Given the description of an element on the screen output the (x, y) to click on. 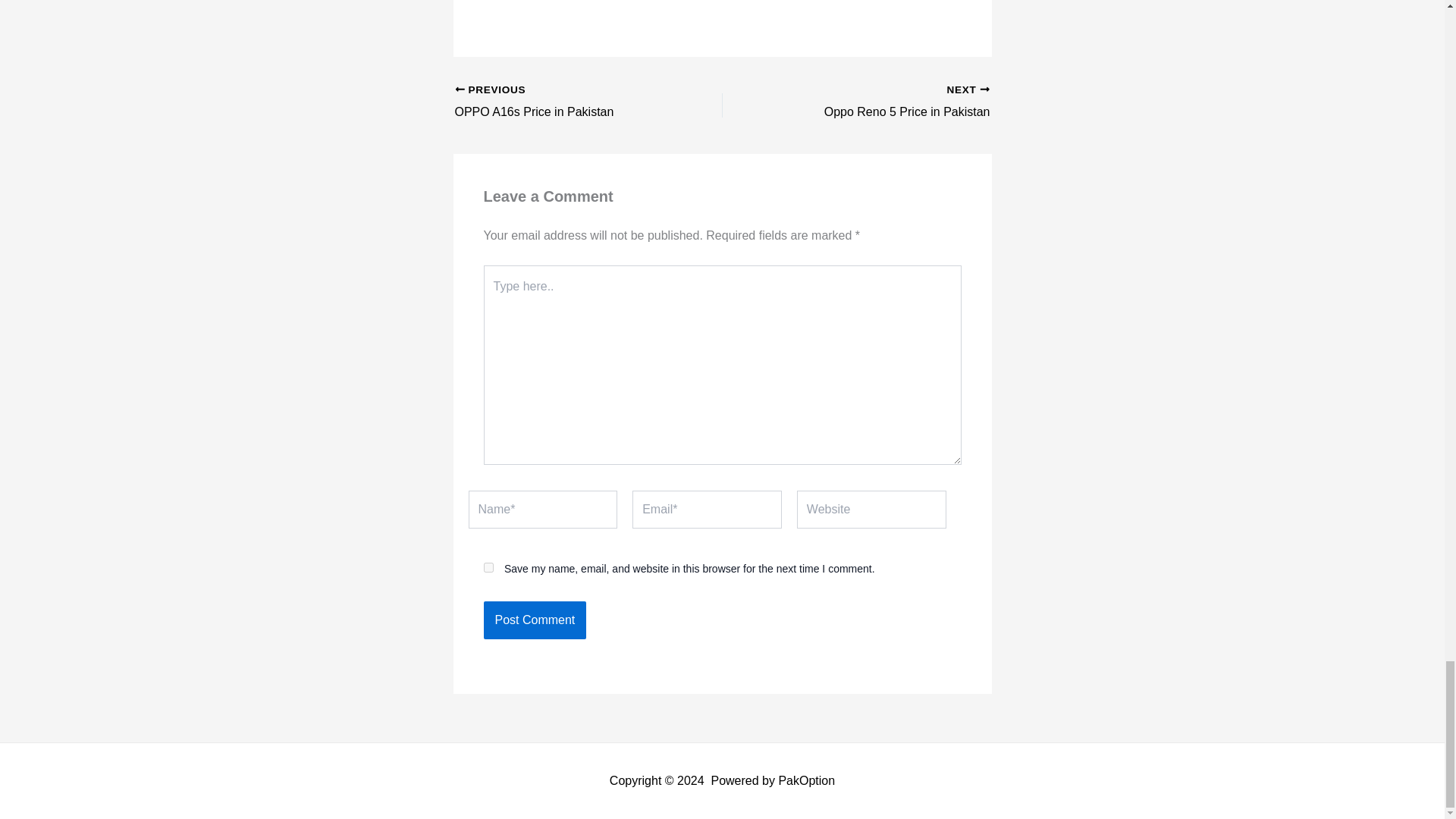
yes (882, 102)
Post Comment (488, 567)
Post Comment (534, 620)
Oppo Reno 5 Price in Pakistan (534, 620)
OPPO A16s Price in Pakistan (561, 102)
